Given the description of an element on the screen output the (x, y) to click on. 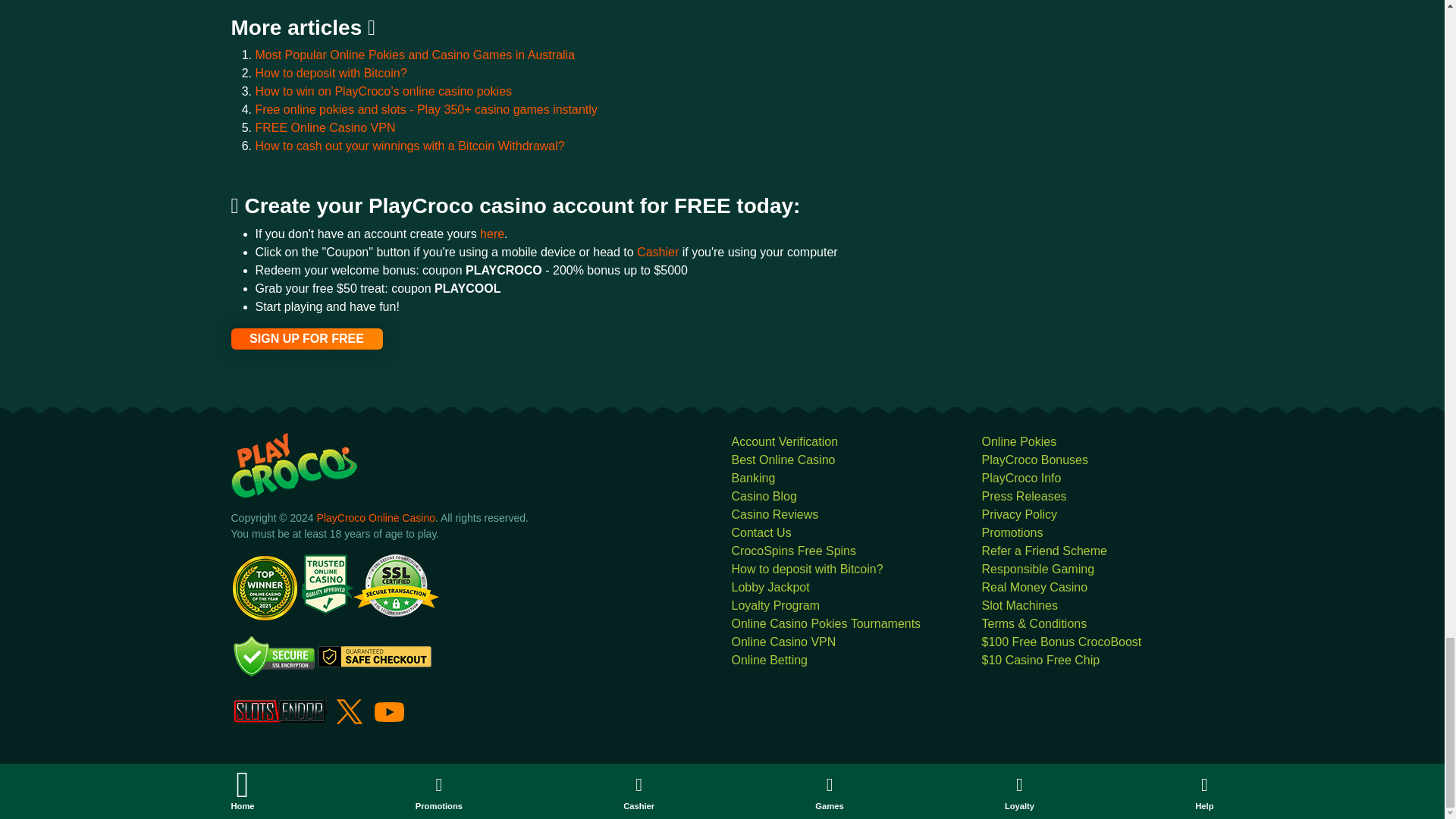
How to cash out your winnings with a Bitcoin Withdrawal? (409, 145)
SIGN UP FOR FREE (305, 338)
Free online pokies and slots (425, 109)
PlayCroco Online Casino (376, 517)
Most Popular Online Pokies and Casino Games in Australia (414, 54)
Banking (752, 477)
Most Popular Online Pokies and Casino Games in Australia (414, 54)
FREE Online Casino VPN (324, 127)
here (491, 233)
How to deposit with Bitcoin? (330, 72)
